Given the description of an element on the screen output the (x, y) to click on. 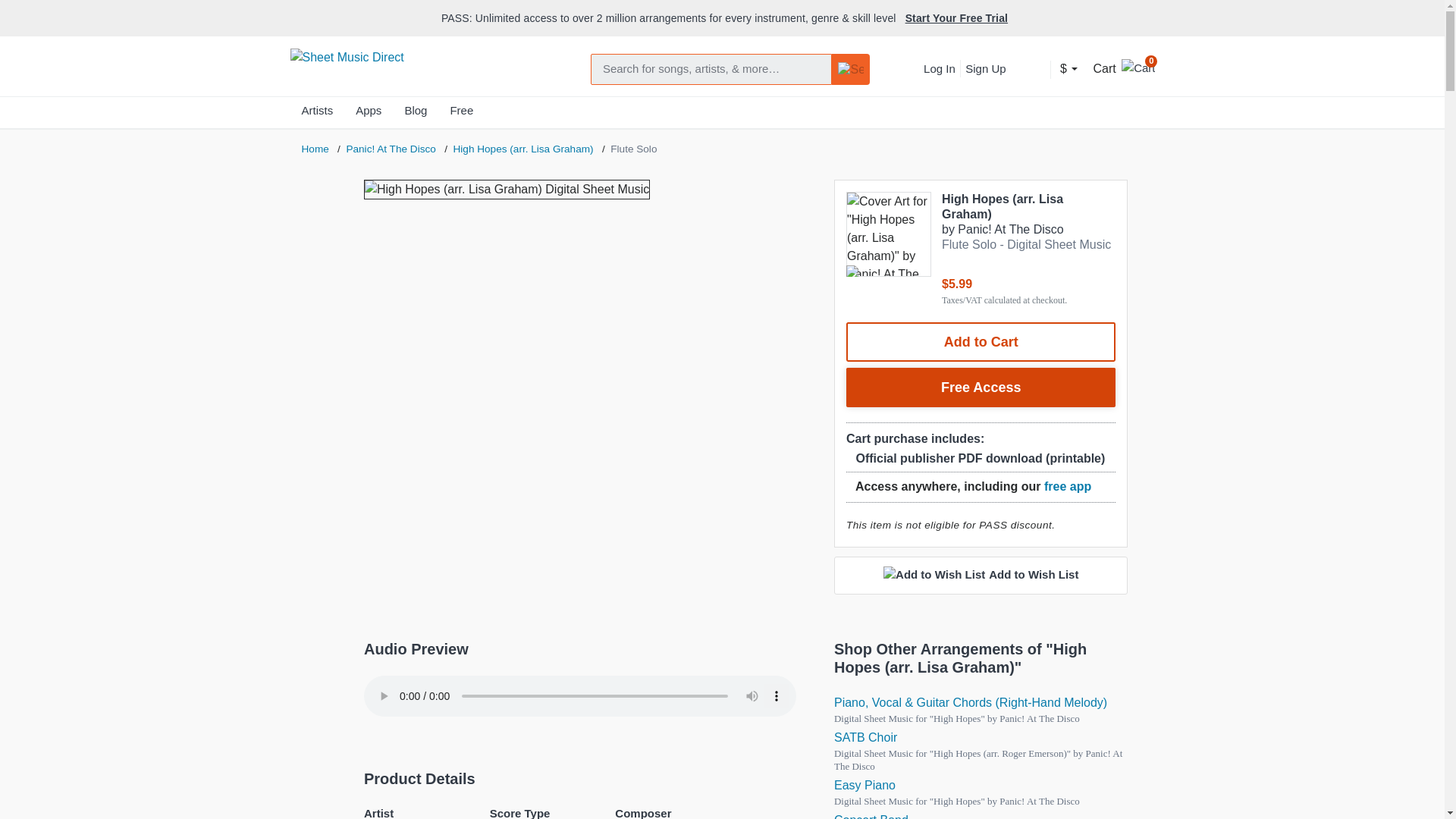
Blog (415, 113)
Digital Sheet Music (970, 702)
Free (461, 113)
Apps (368, 113)
Artists (316, 113)
Log In (939, 68)
Digital Sheet Music (864, 784)
Add to Cart (980, 341)
Digital Sheet Music (865, 737)
Submit (850, 69)
